Given the description of an element on the screen output the (x, y) to click on. 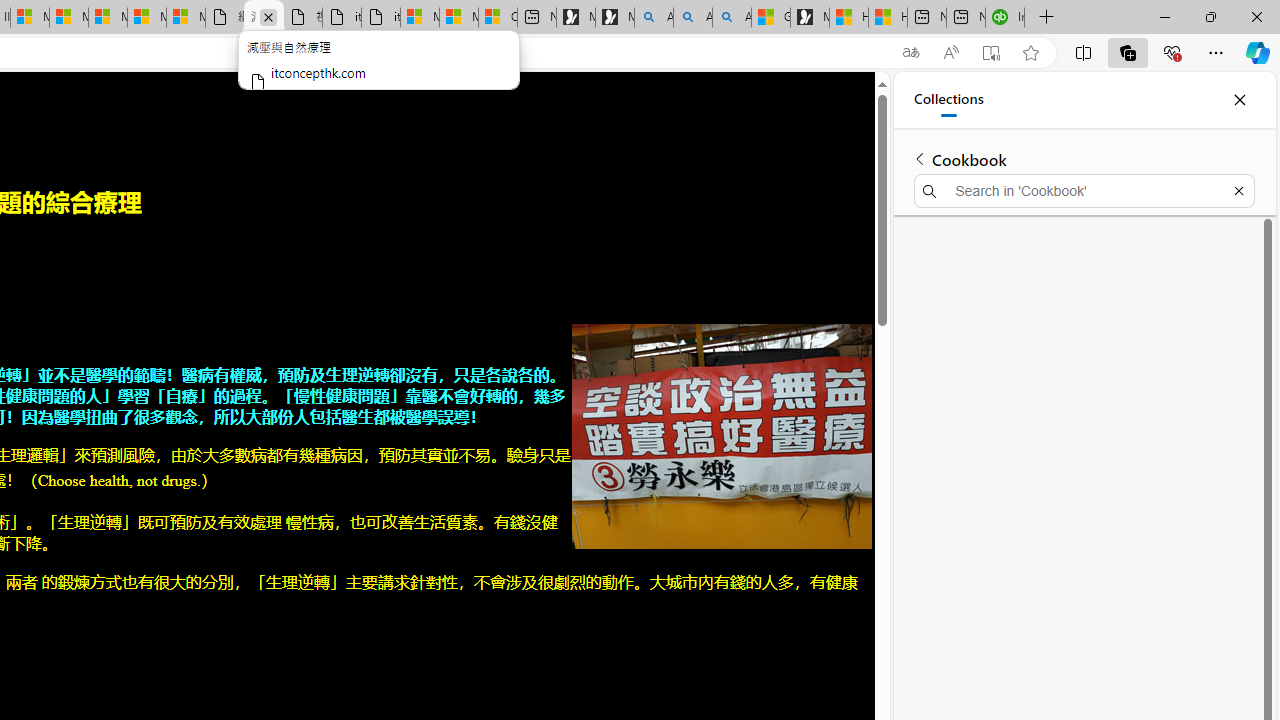
itconcepthk.com/projector_solutions.mp4 (381, 17)
Alabama high school quarterback dies - Search Videos (732, 17)
Exit search (1238, 190)
Show translate options (910, 53)
Intuit QuickBooks Online - Quickbooks (1004, 17)
